Given the description of an element on the screen output the (x, y) to click on. 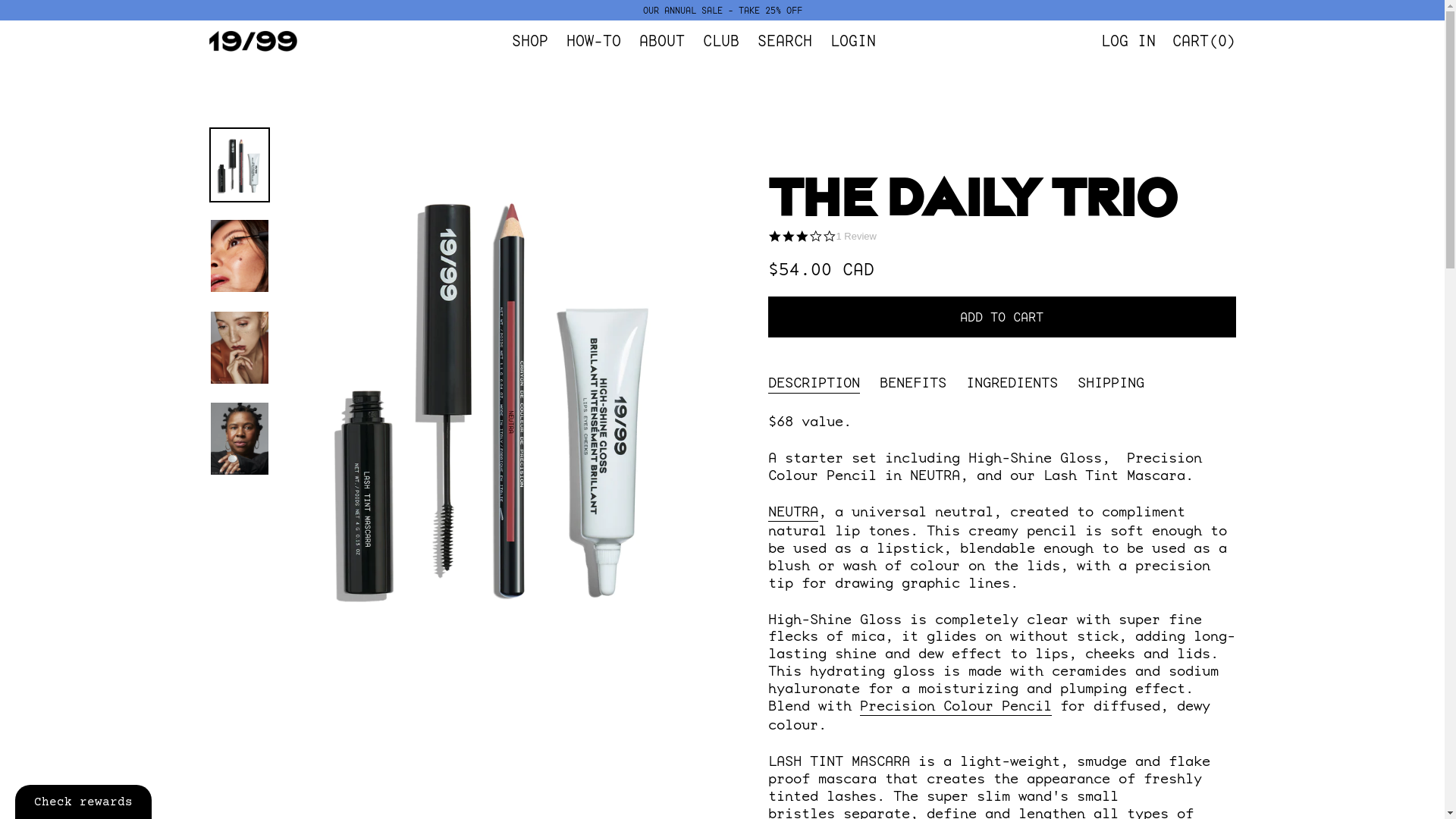
CLUB Element type: text (720, 40)
HOW-TO Element type: text (593, 40)
INGREDIENTS Element type: text (1011, 381)
BENEFITS Element type: text (912, 381)
Precision Colour Pencil Element type: text (955, 706)
1 Review Element type: text (855, 235)
OUR ANNUAL SALE - TAKE 25% OFF Element type: text (722, 10)
DESCRIPTION Element type: text (813, 381)
Skip to content Element type: text (0, 0)
SHOP Element type: text (529, 40)
ABOUT Element type: text (661, 40)
SEARCH Element type: text (784, 40)
LOGIN Element type: text (852, 40)
NEUTRA Element type: text (792, 512)
CART(0) Element type: text (1204, 40)
LOG IN Element type: text (1128, 40)
SHIPPING Element type: text (1109, 381)
ADD TO CART Element type: text (1001, 316)
